Given the description of an element on the screen output the (x, y) to click on. 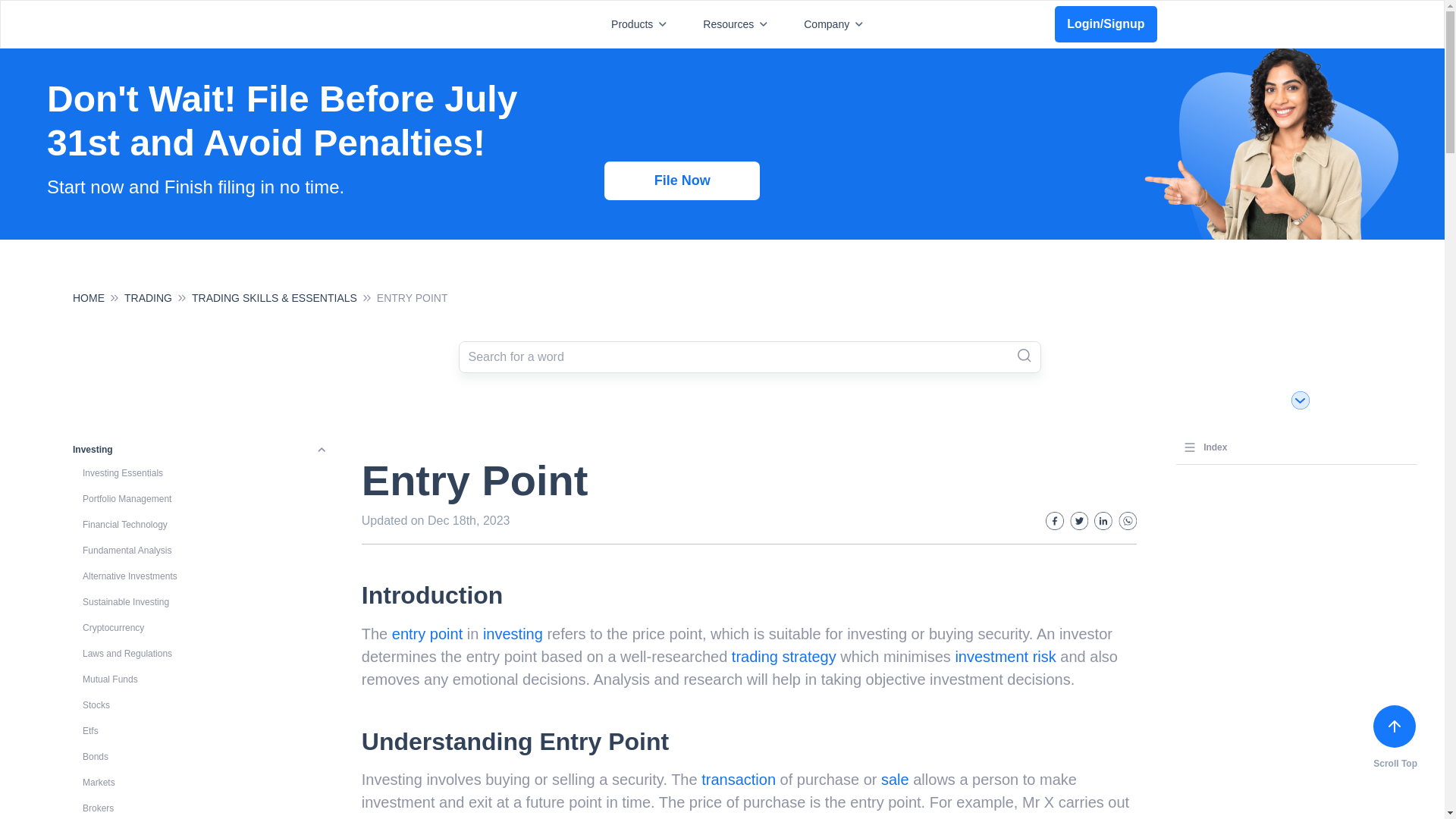
Company (836, 24)
Resources (738, 24)
Products (641, 24)
